Given the description of an element on the screen output the (x, y) to click on. 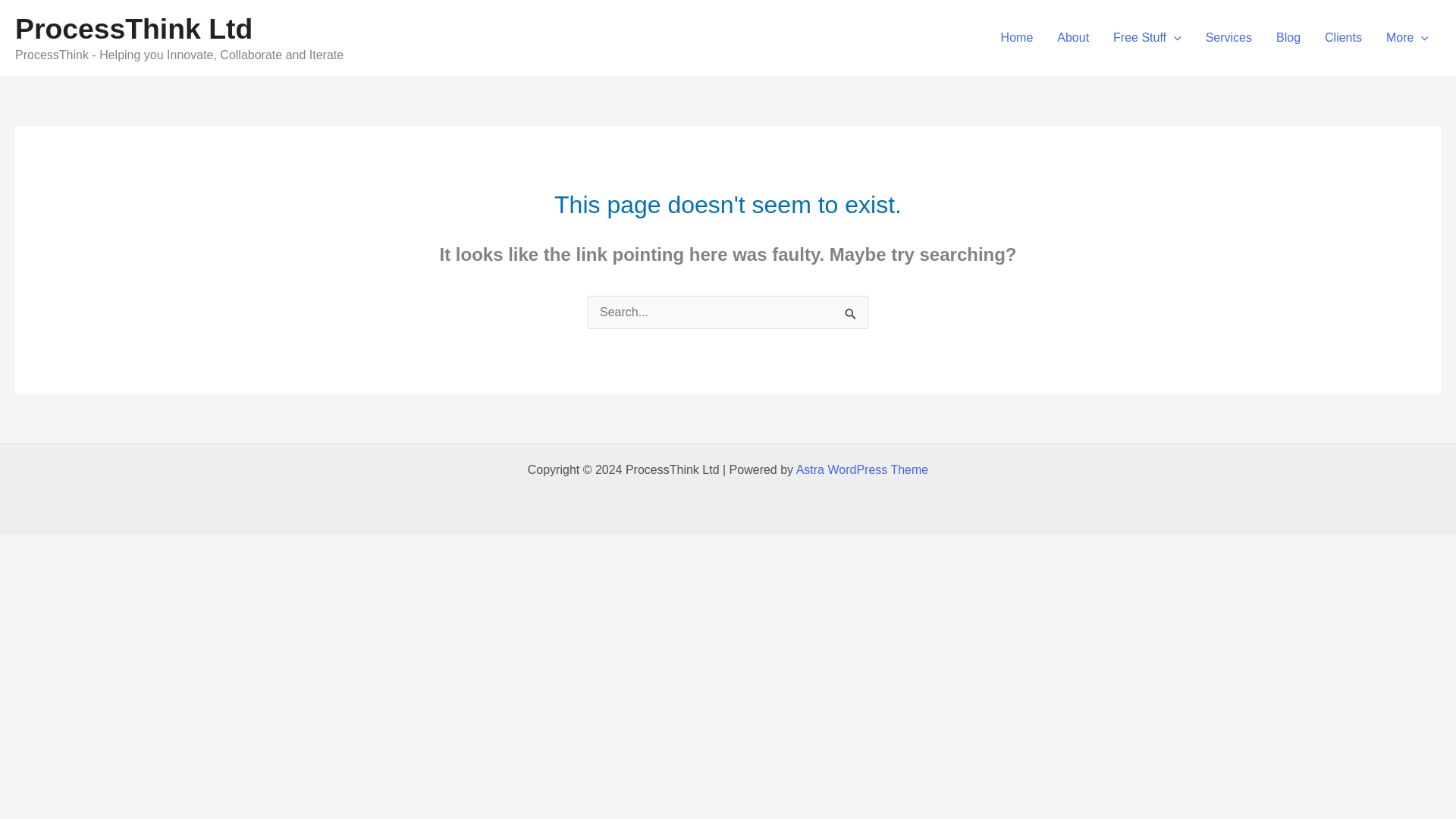
More (1407, 37)
Blog (1288, 37)
Free Stuff (1146, 37)
Home (1016, 37)
About (1072, 37)
ProcessThink Ltd (132, 29)
Clients (1343, 37)
Services (1228, 37)
Astra WordPress Theme (862, 469)
